Given the description of an element on the screen output the (x, y) to click on. 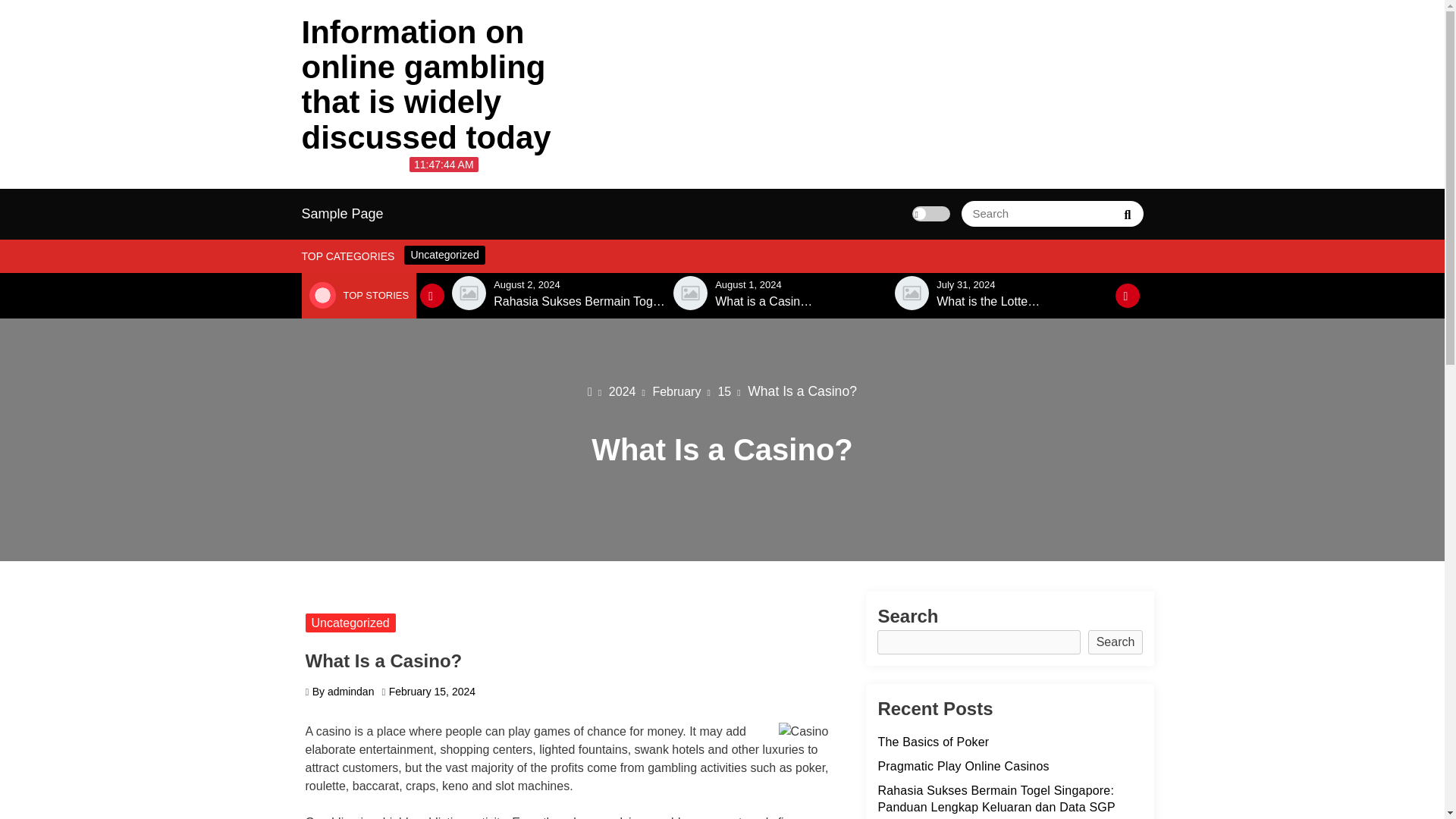
August 2, 2024 (526, 284)
July 31, 2024 (965, 284)
What is the Lottery? (989, 301)
Uncategorized (444, 254)
Sample Page (342, 213)
Search (1127, 214)
What is a Casino? (763, 301)
August 1, 2024 (747, 284)
